Given the description of an element on the screen output the (x, y) to click on. 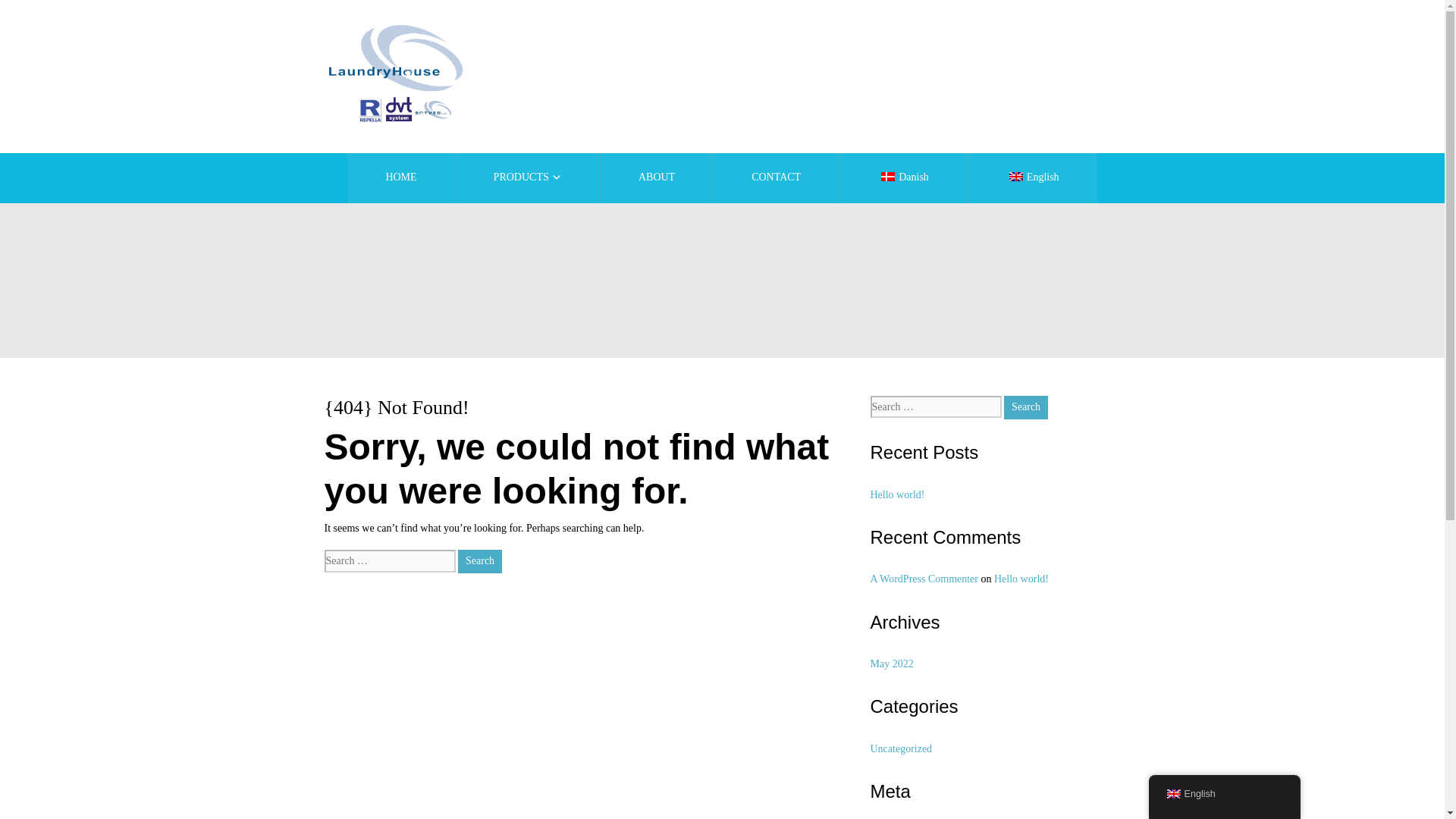
A WordPress Commenter (924, 578)
Uncategorized (901, 748)
English (1224, 794)
Danish (887, 175)
Search (480, 561)
PRODUCTS (527, 178)
Danish (903, 178)
CONTACT (775, 178)
Search (480, 561)
Search (480, 561)
